Given the description of an element on the screen output the (x, y) to click on. 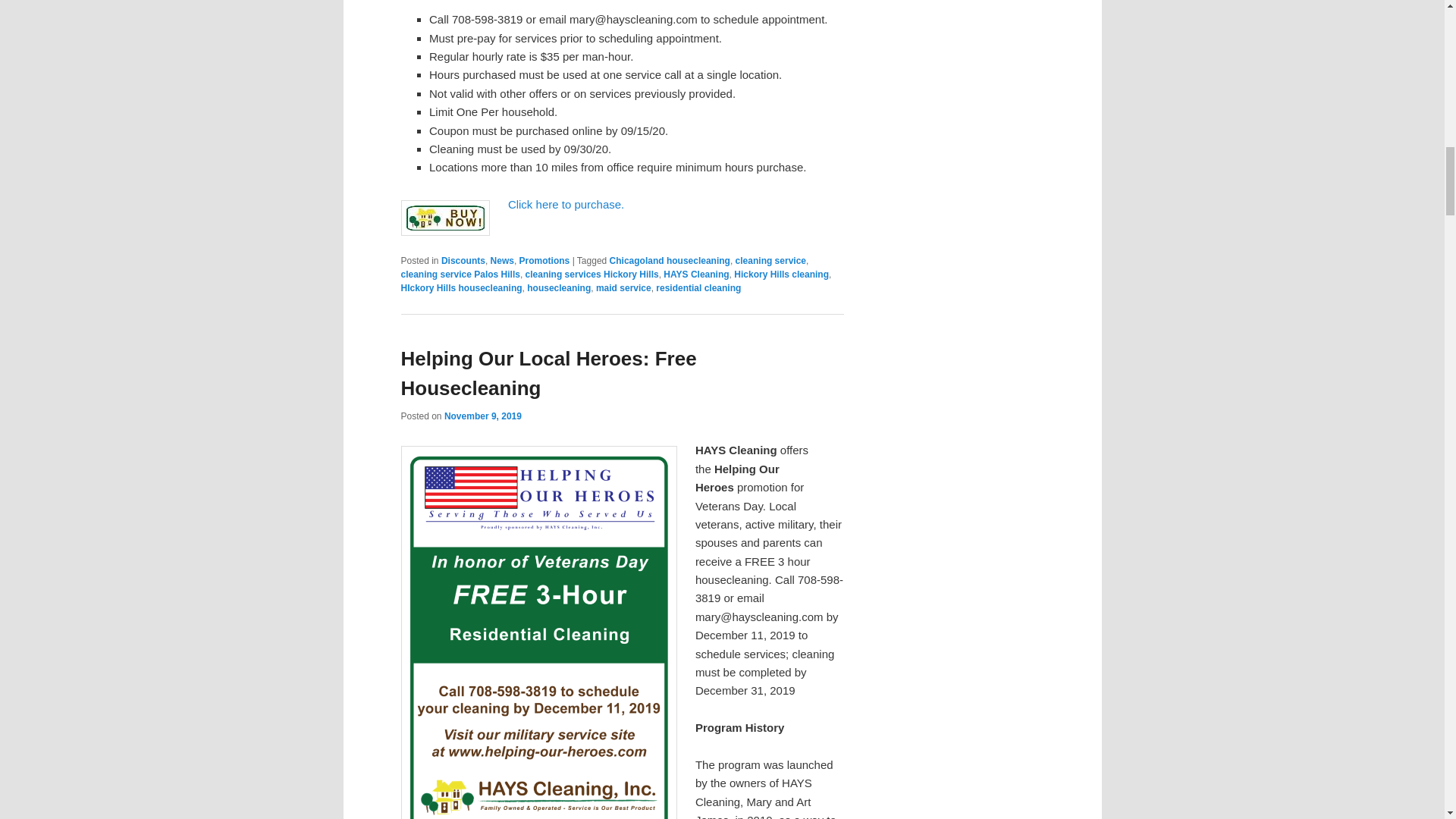
5:07 pm (482, 416)
